Given the description of an element on the screen output the (x, y) to click on. 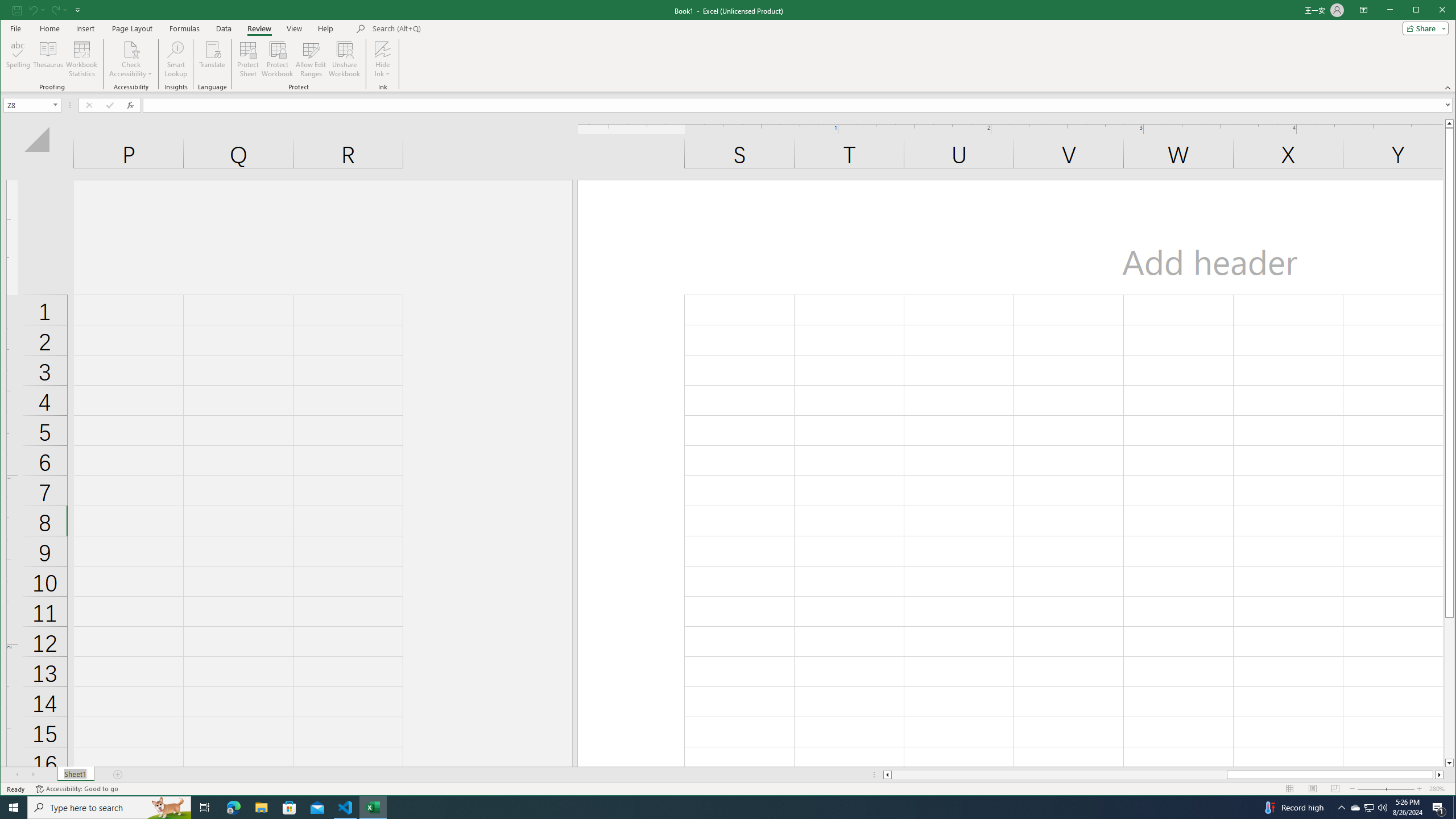
Thesaurus... (48, 59)
Q2790: 100% (1382, 807)
Search highlights icon opens search home window (1368, 807)
